Given the description of an element on the screen output the (x, y) to click on. 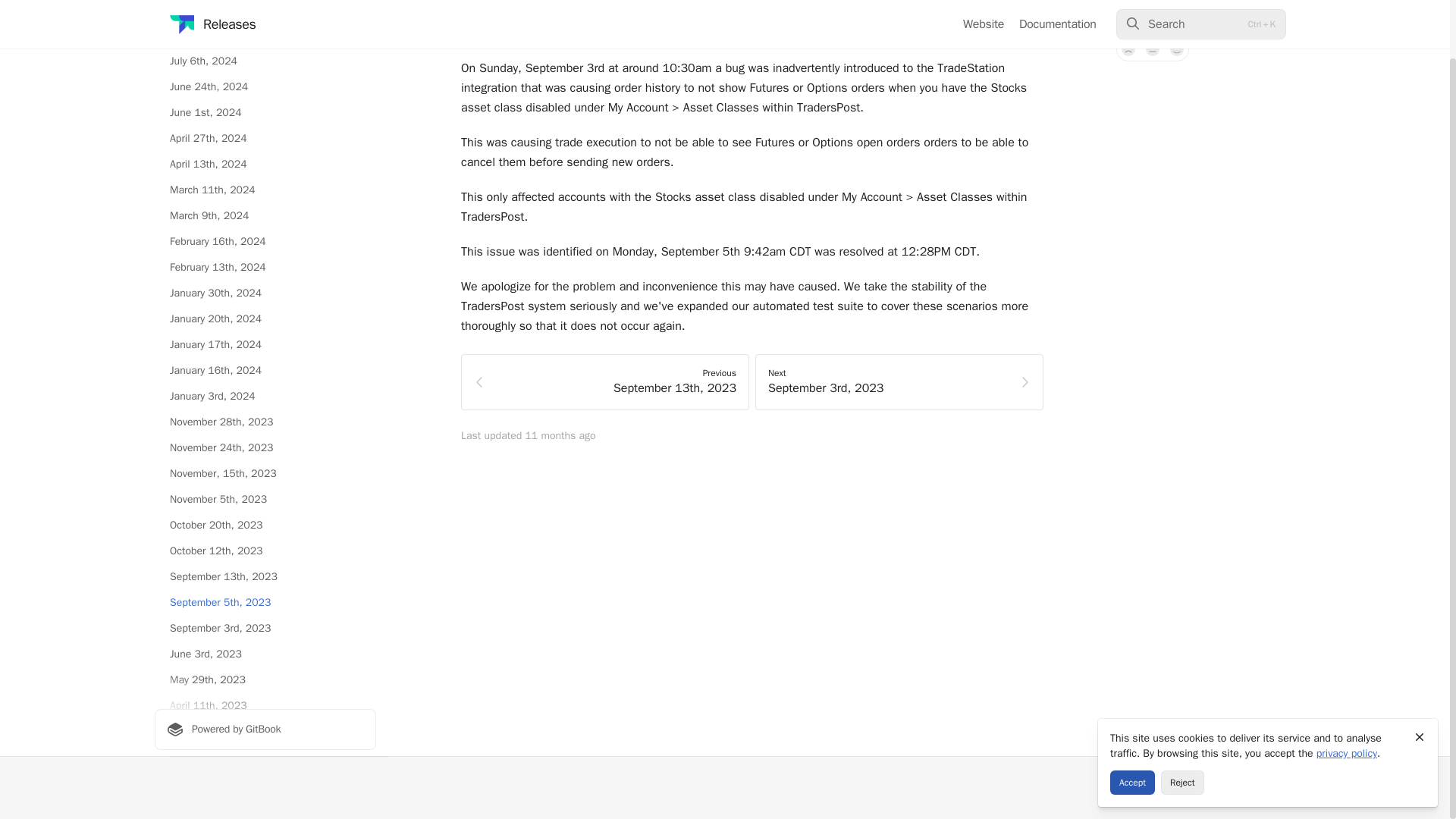
May 29th, 2023 (264, 680)
June 3rd, 2023 (264, 654)
No (1128, 48)
July 6th, 2024 (264, 61)
March 4th, 2023 (264, 757)
March 9th, 2024 (264, 215)
April 11th, 2023 (264, 705)
October 12th, 2023 (264, 550)
November 24th, 2023 (264, 447)
September 13th, 2023 (264, 576)
